Given the description of an element on the screen output the (x, y) to click on. 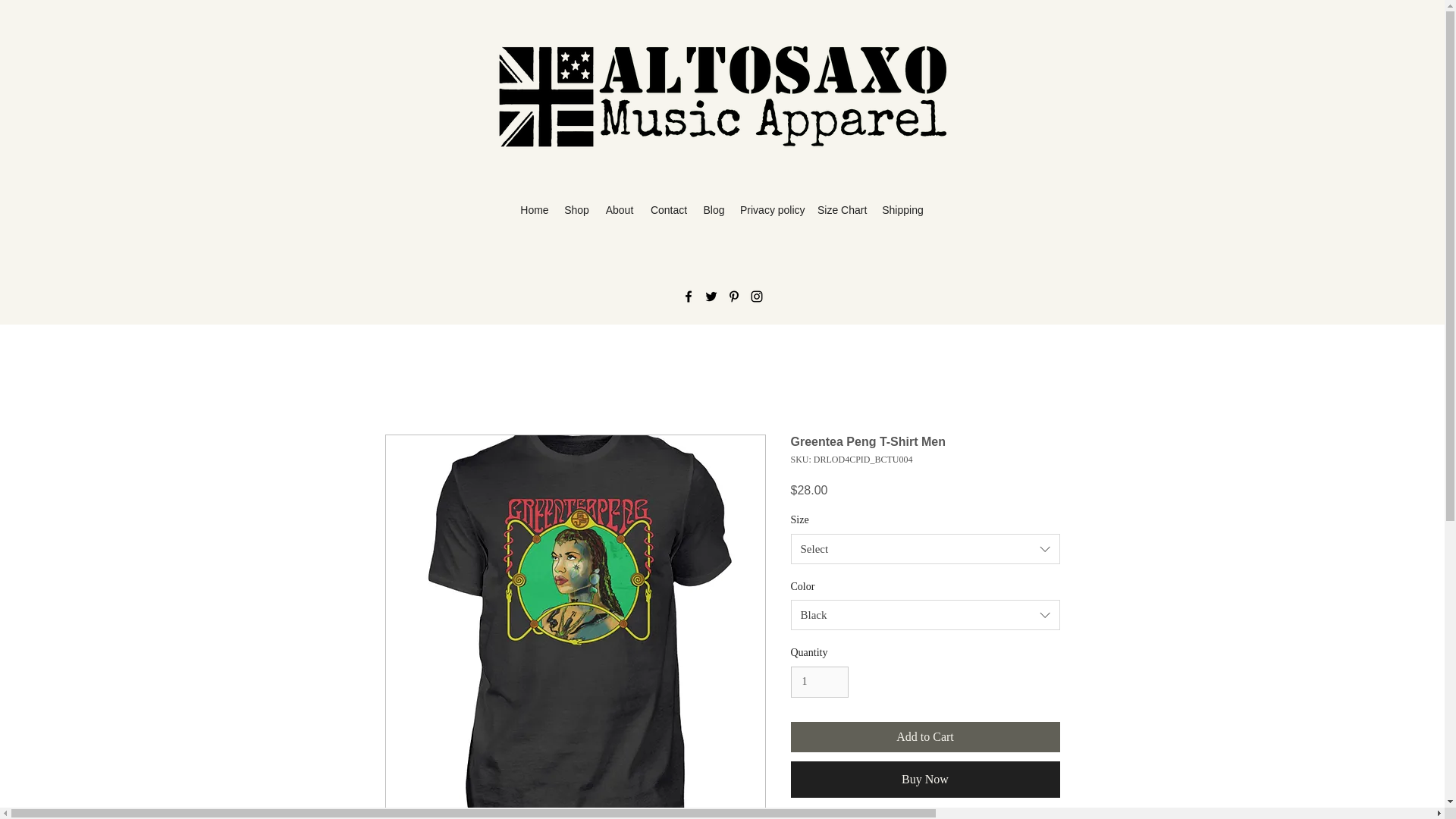
Select (924, 548)
Home (534, 210)
Privacy policy (770, 210)
Black (924, 614)
Shop (576, 210)
altosaxo LOGO PNG 1900.png (722, 96)
Blog (713, 210)
About (619, 210)
Shipping (902, 210)
1 (818, 681)
Buy Now (924, 779)
Contact (668, 210)
Add to Cart (924, 736)
Size Chart (841, 210)
